Given the description of an element on the screen output the (x, y) to click on. 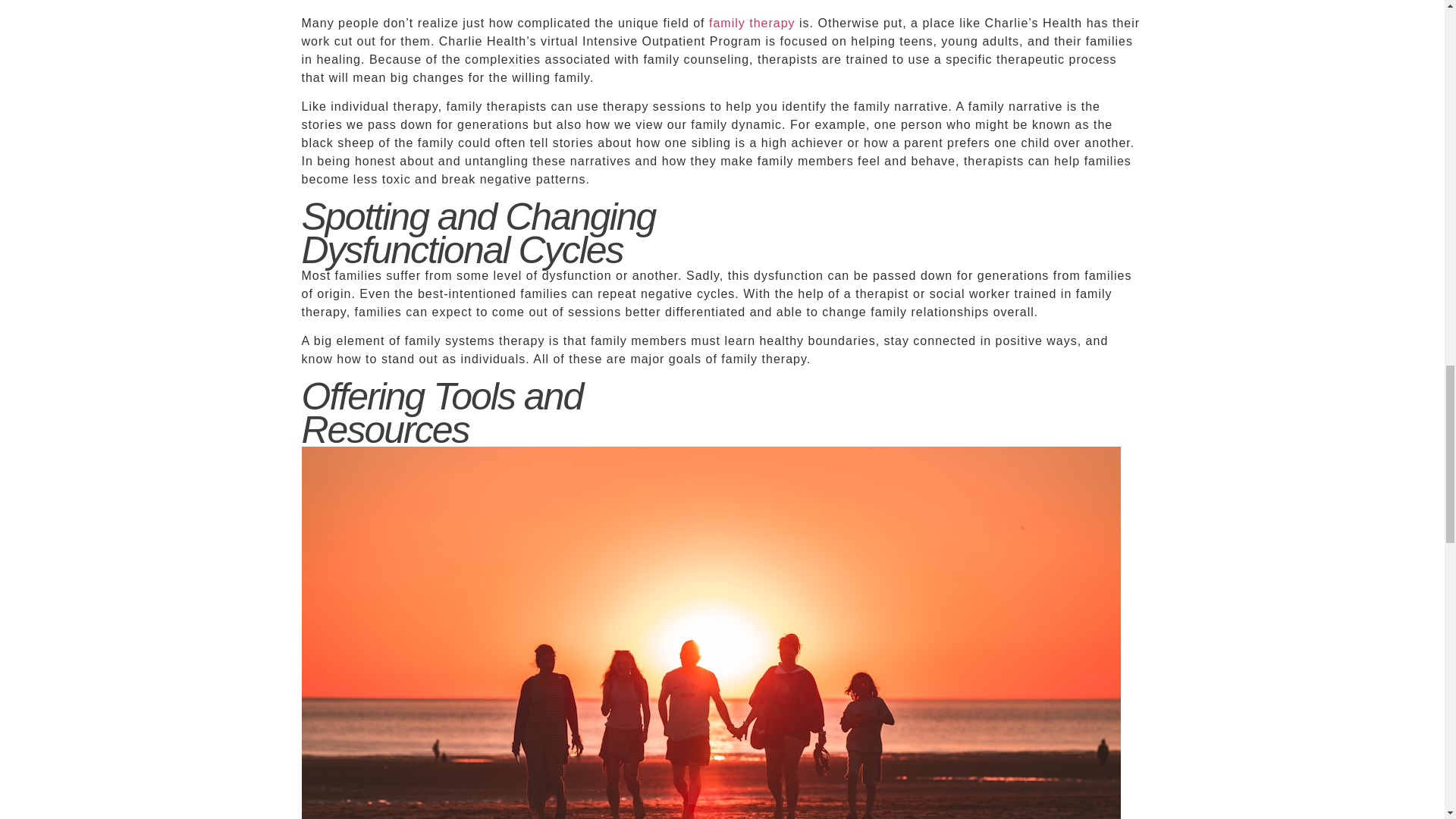
family therapy (751, 22)
